Given the description of an element on the screen output the (x, y) to click on. 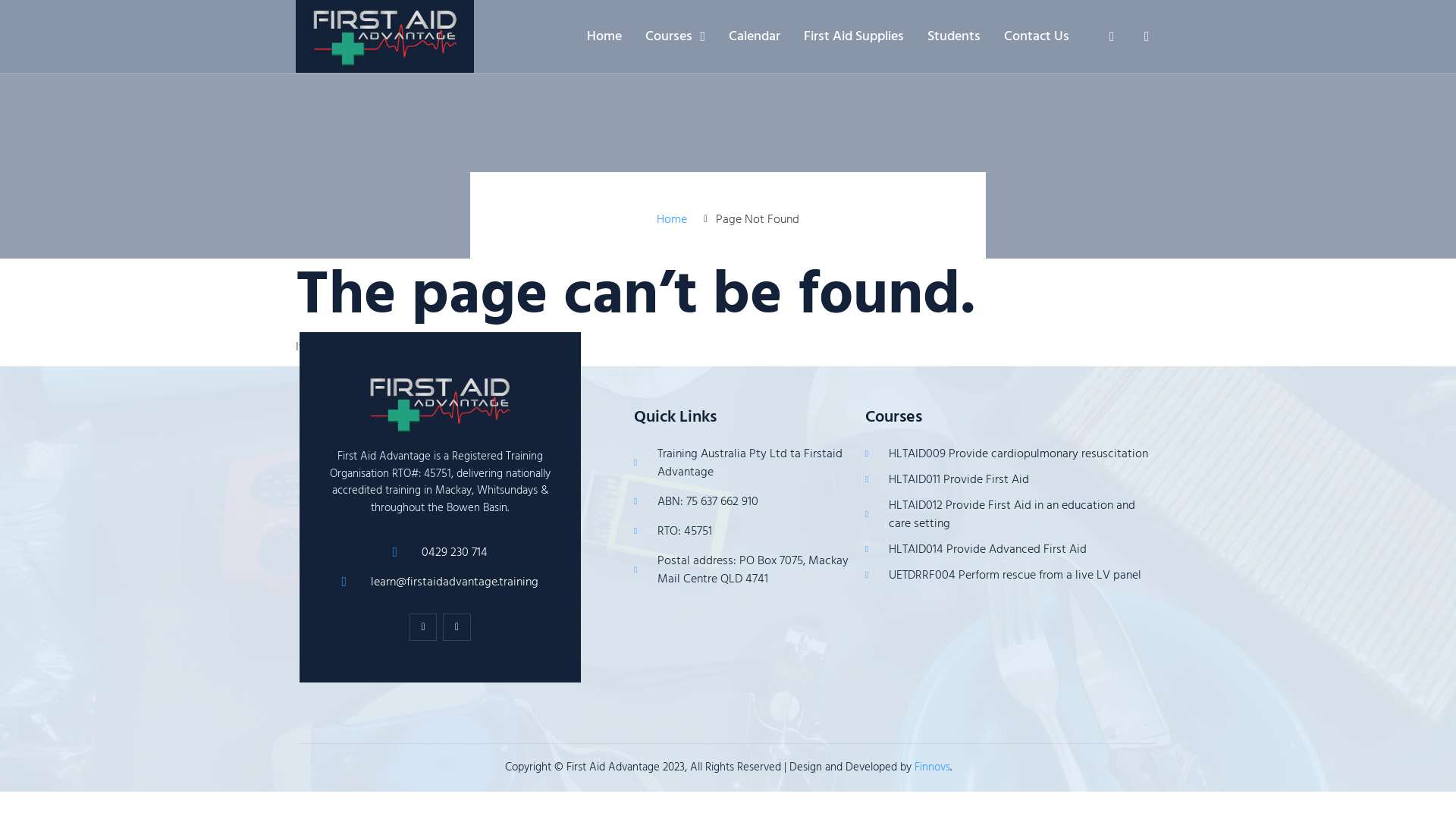
RTO: 45751 Element type: text (741, 530)
Home Element type: text (603, 35)
HLTAID011 Provide First Aid Element type: text (1008, 479)
ABN: 75 637 662 910 Element type: text (741, 501)
Contact Us Element type: text (1036, 35)
Calendar Element type: text (754, 35)
HLTAID009 Provide cardiopulmonary resuscitation Element type: text (1008, 453)
Students Element type: text (953, 35)
0429 230 714 Element type: text (439, 551)
Courses Element type: text (675, 35)
learn@firstaidadvantage.training Element type: text (439, 581)
HLTAID014 Provide Advanced First Aid Element type: text (1008, 548)
HLTAID012 Provide First Aid in an education and care setting Element type: text (1008, 513)
Finnovs Element type: text (932, 767)
Home Element type: text (671, 219)
First Aid Supplies Element type: text (853, 35)
UETDRRF004 Perform rescue from a live LV panel Element type: text (1008, 574)
